Given the description of an element on the screen output the (x, y) to click on. 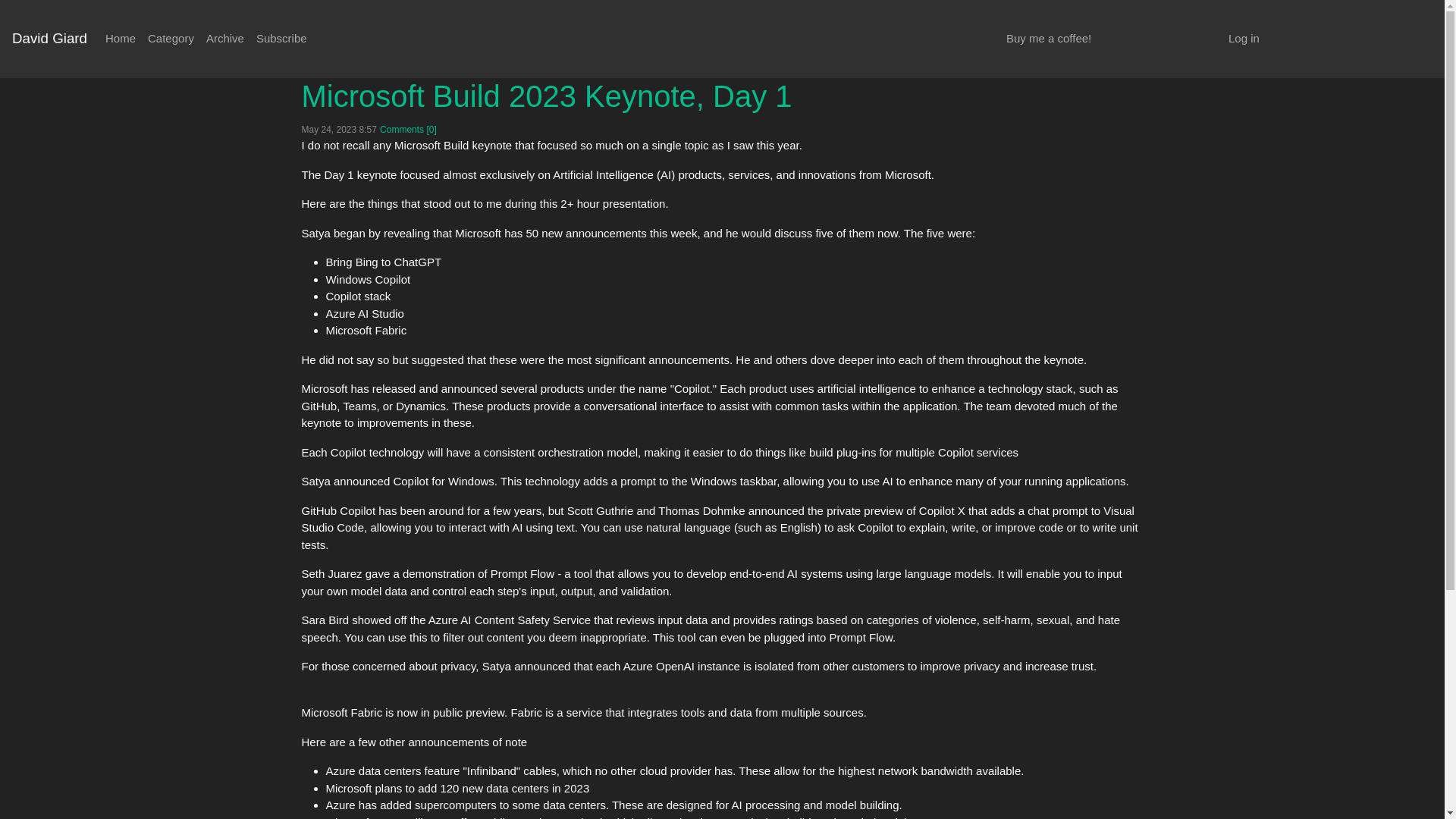
Category (170, 39)
Subscribe (281, 39)
Home (120, 39)
Buy me a coffee! (1048, 39)
David Giard (49, 39)
Microsoft Build 2023 Keynote, Day 1 (546, 95)
Archive (225, 39)
Log in (1244, 39)
